Given the description of an element on the screen output the (x, y) to click on. 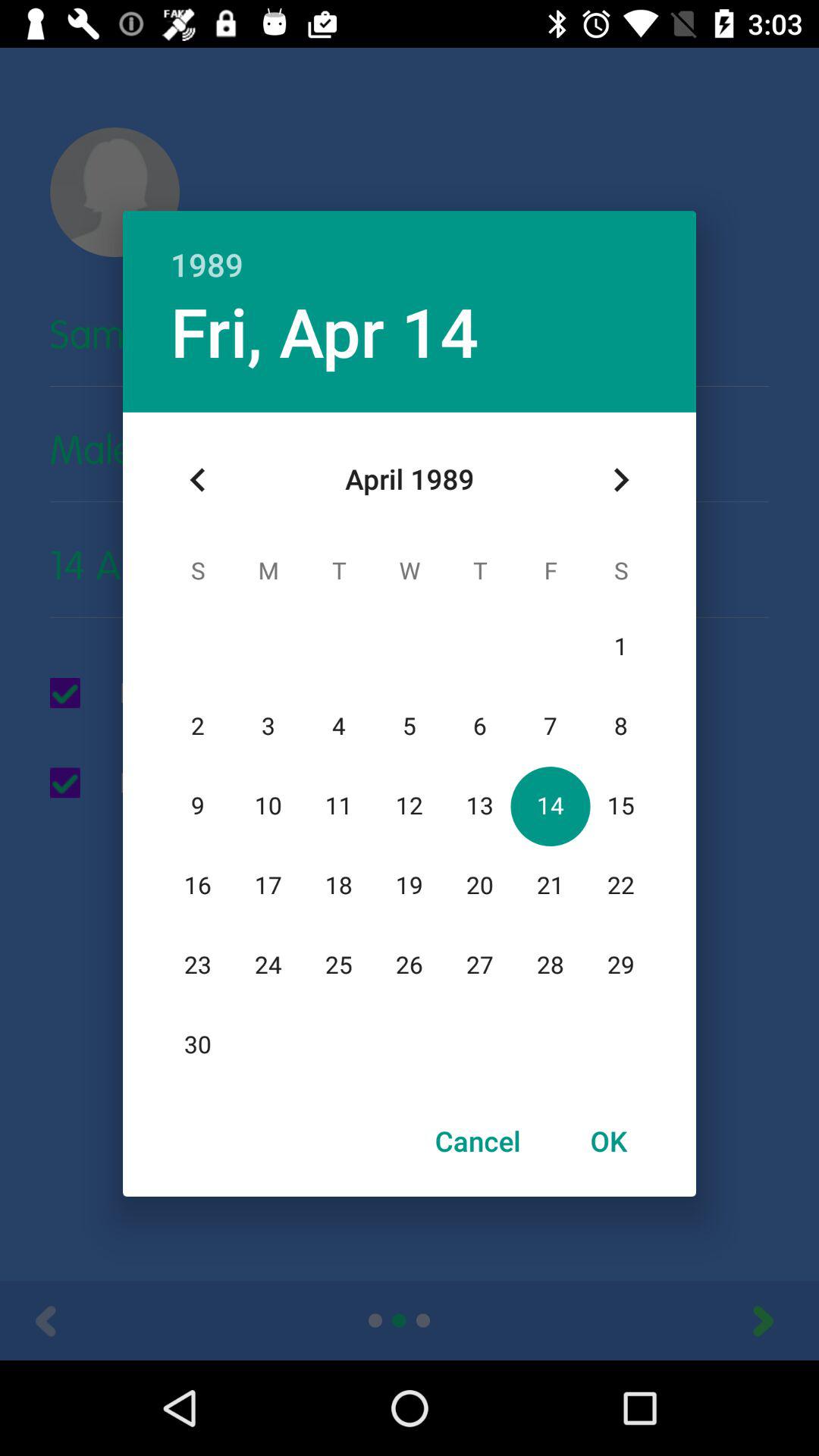
tap cancel (477, 1140)
